Given the description of an element on the screen output the (x, y) to click on. 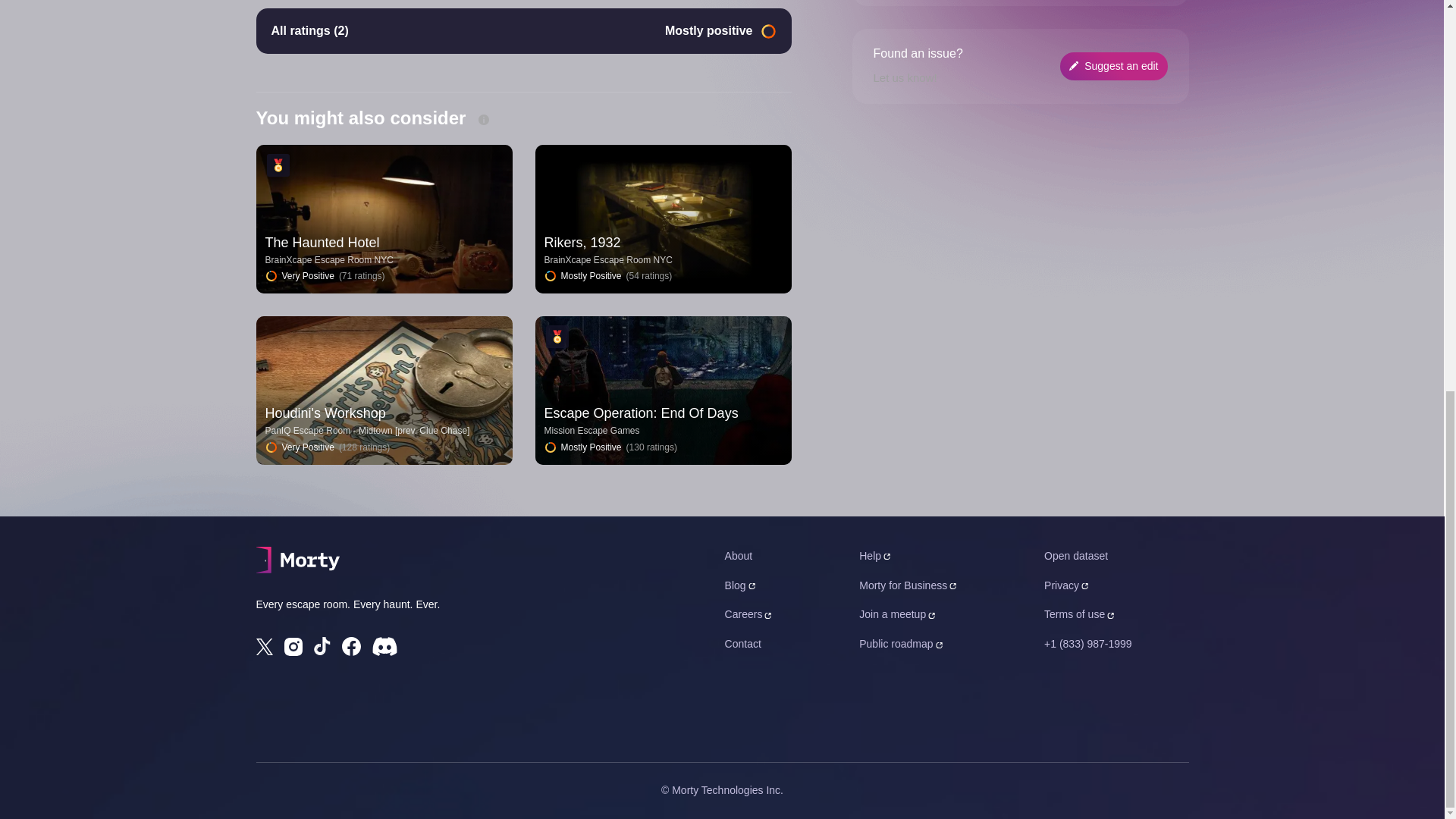
Rikers, 1932 (582, 242)
The Haunted Hotel (322, 242)
Escape Operation: End Of Days (641, 412)
Houdini's Workshop (324, 412)
